Given the description of an element on the screen output the (x, y) to click on. 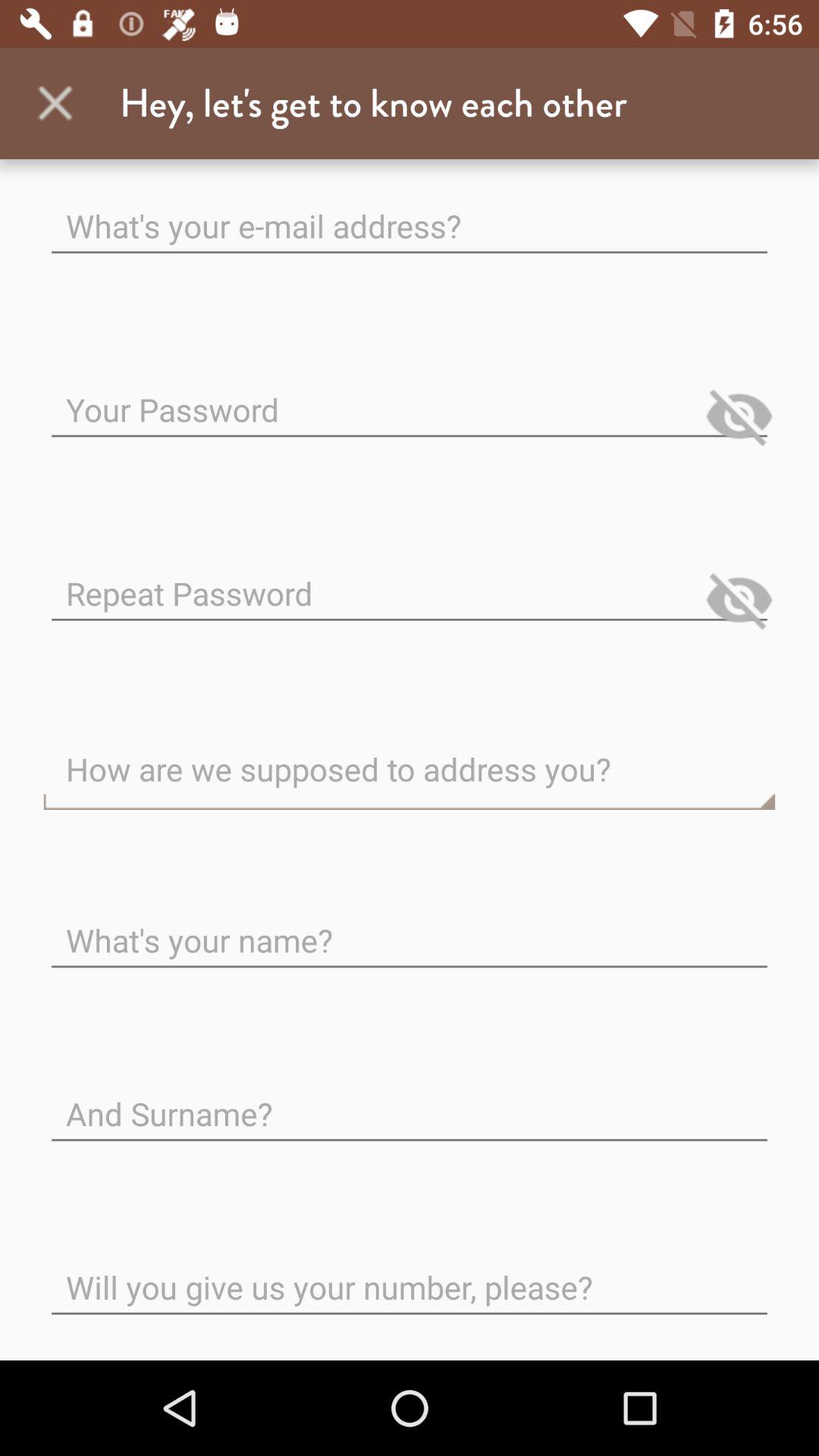
enter your name on the box (409, 928)
